Given the description of an element on the screen output the (x, y) to click on. 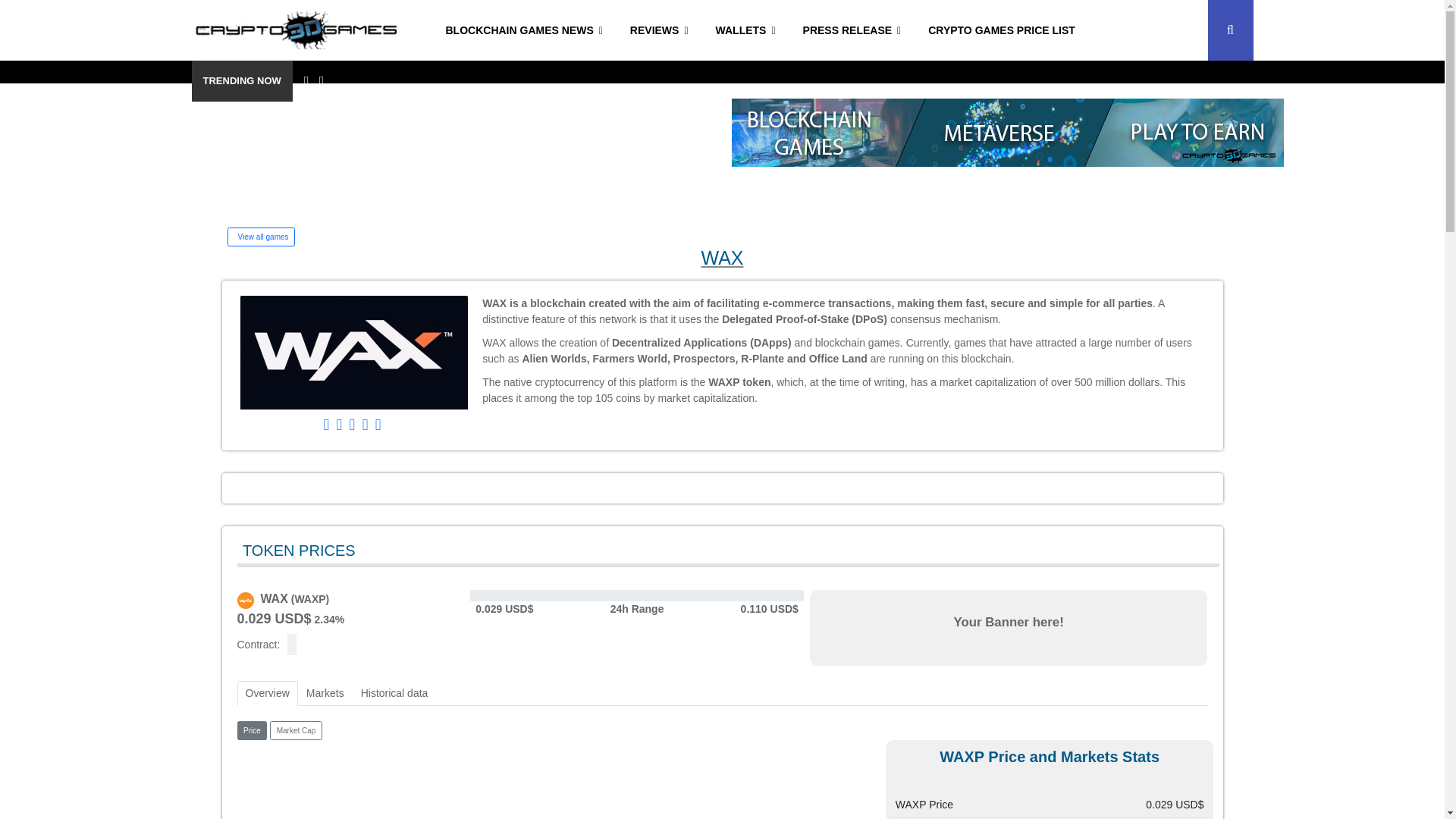
REVIEWS (658, 30)
WALLETS (745, 30)
BLOCKCHAIN GAMES NEWS (523, 30)
